Given the description of an element on the screen output the (x, y) to click on. 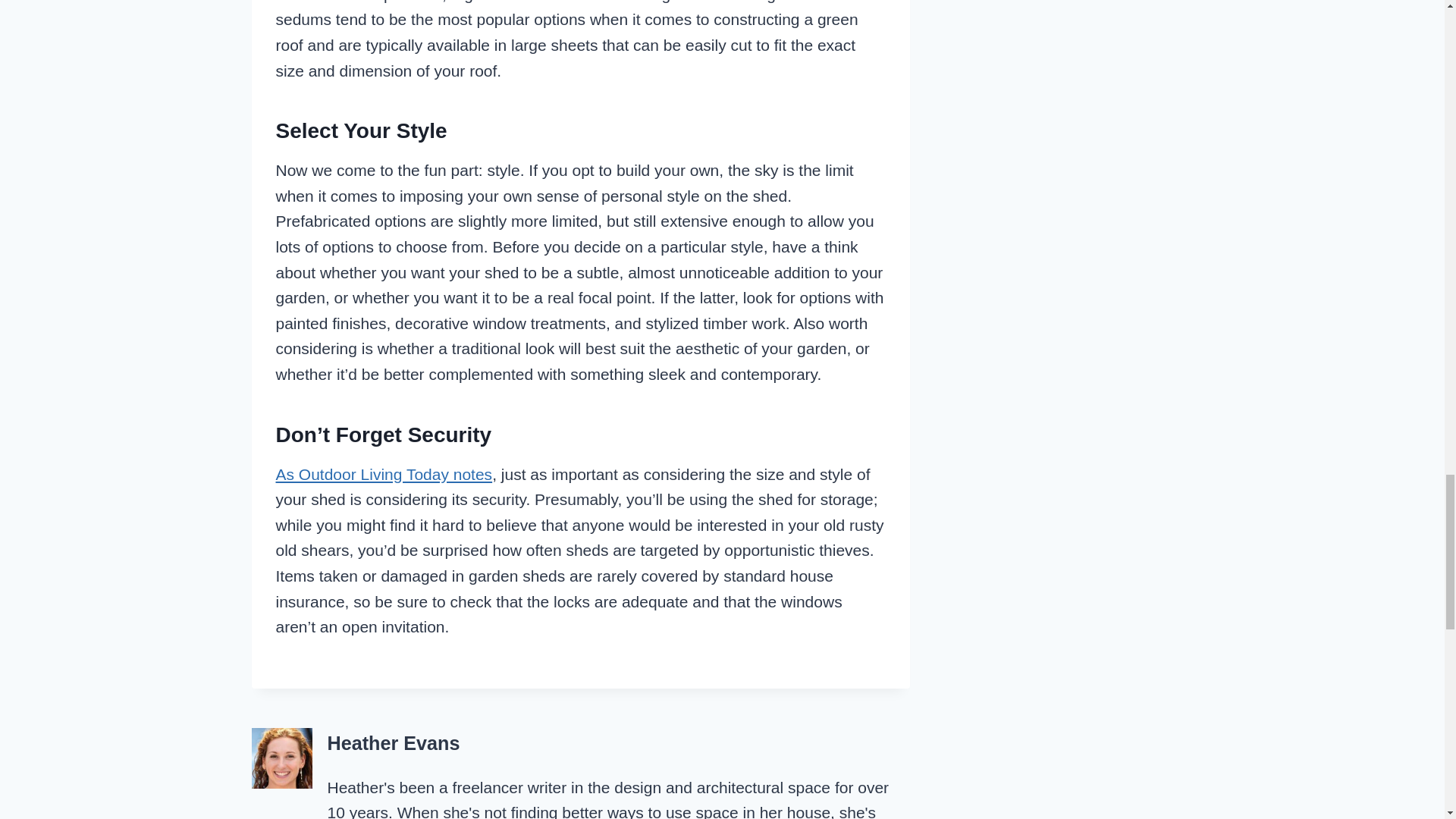
Posts by Heather Evans (393, 742)
